Given the description of an element on the screen output the (x, y) to click on. 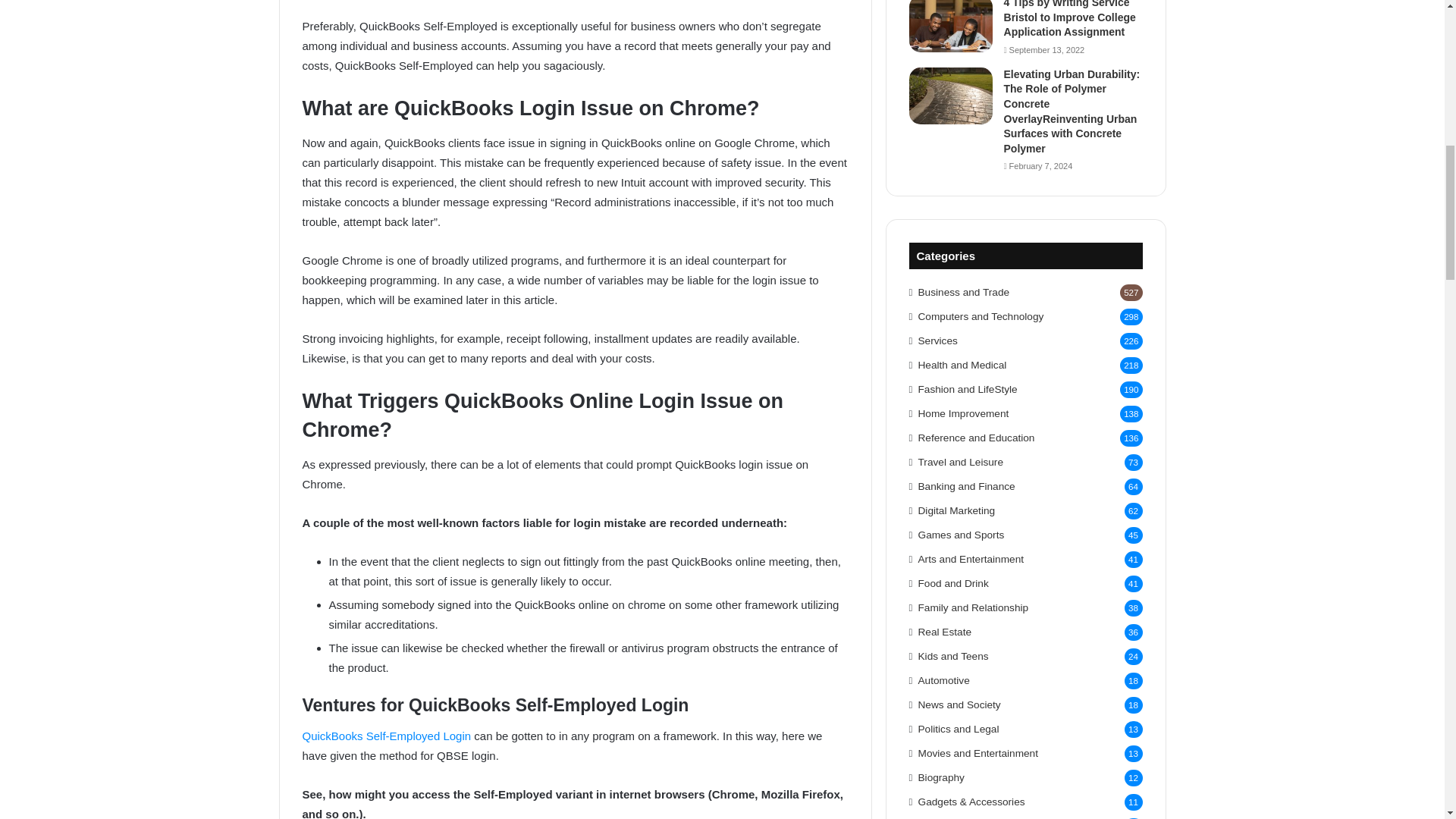
QuickBooks Self-Employed Login (385, 735)
